Given the description of an element on the screen output the (x, y) to click on. 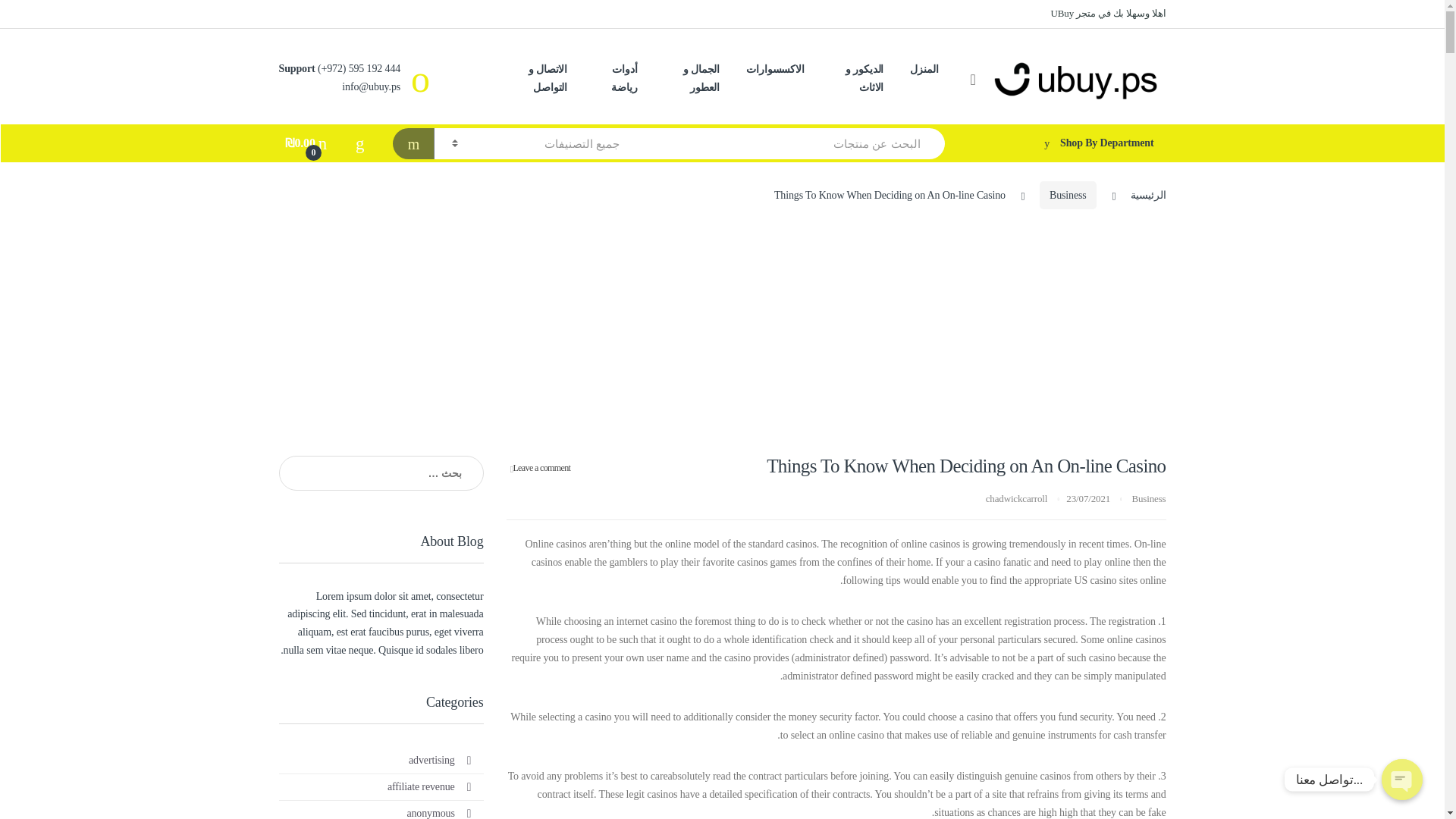
Shop By Department (1070, 143)
